Given the description of an element on the screen output the (x, y) to click on. 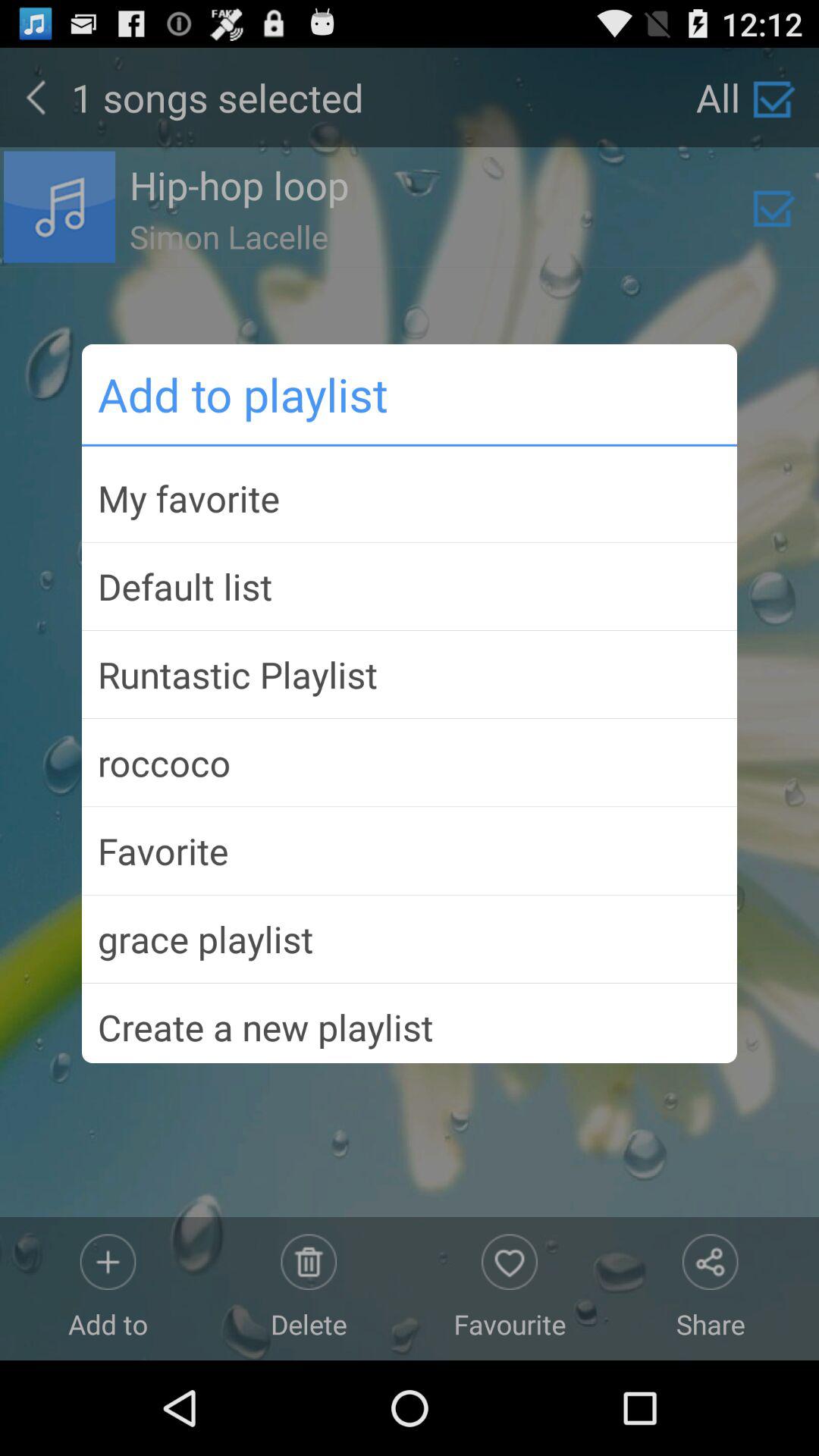
choose icon below runtastic playlist item (409, 762)
